Given the description of an element on the screen output the (x, y) to click on. 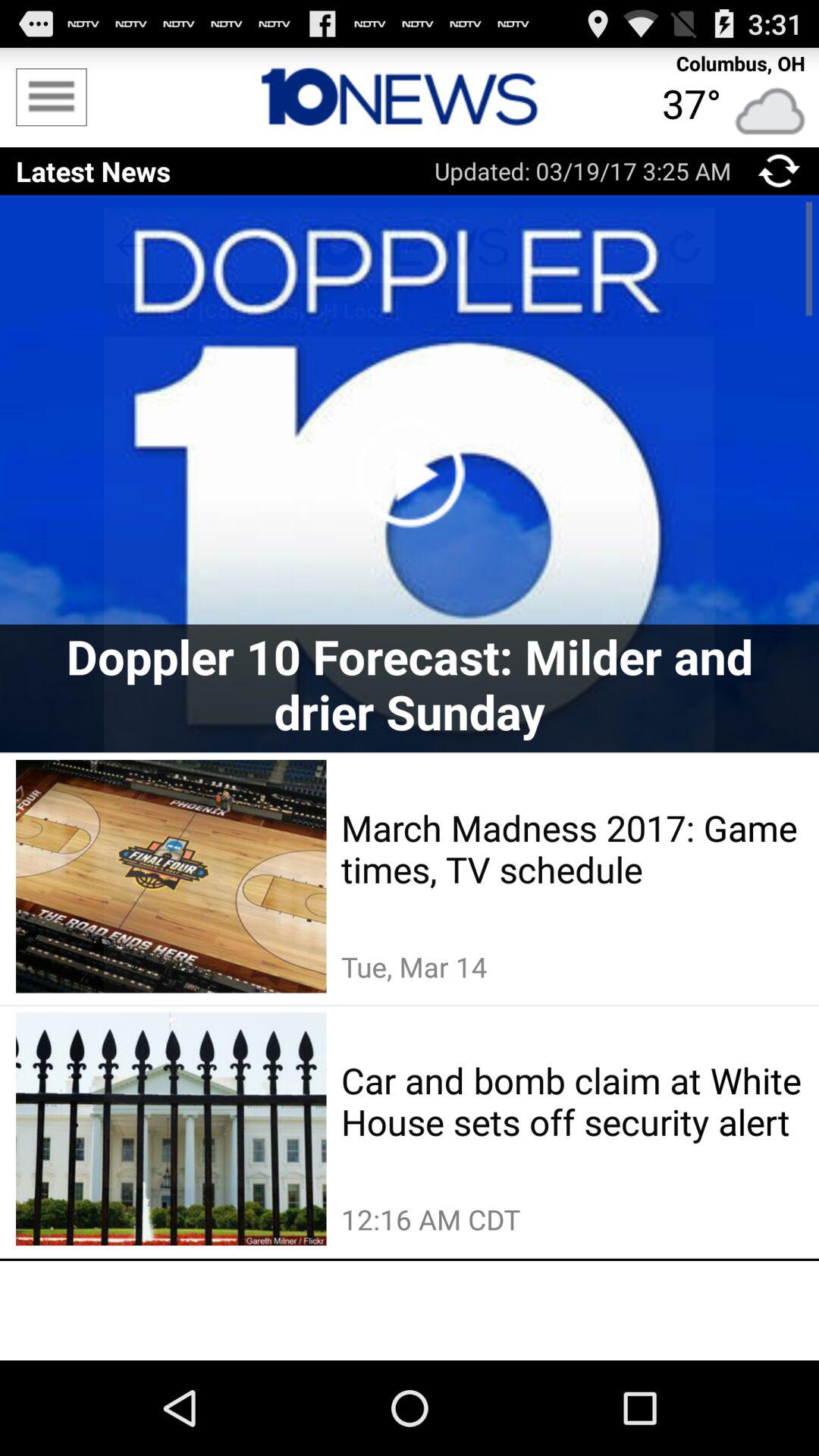
open the app next to updated 03 19 icon (779, 171)
